Given the description of an element on the screen output the (x, y) to click on. 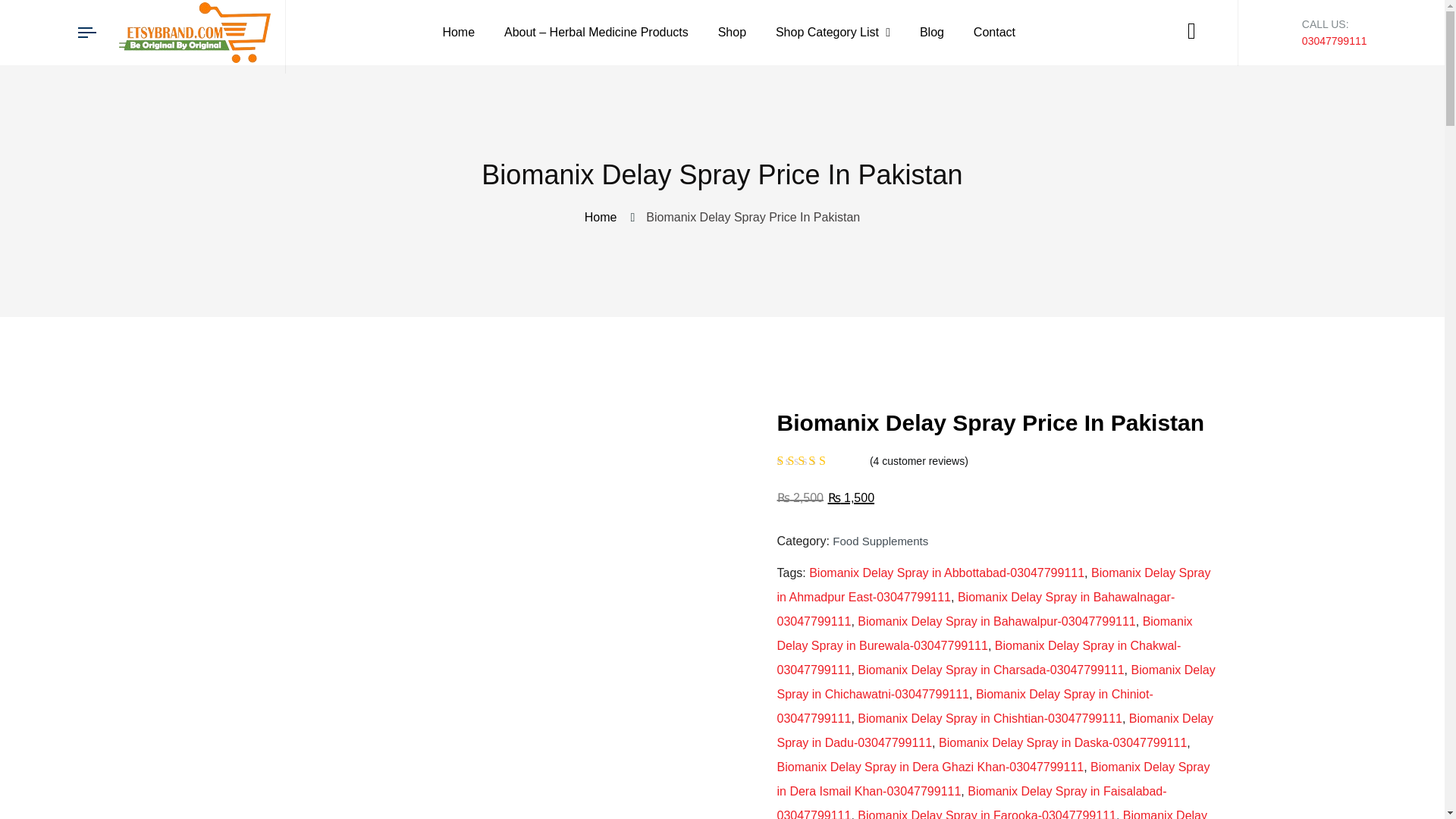
Food Supplements (880, 540)
03047799111 (1334, 40)
Biomanix Delay Spray in Chakwal-03047799111 (978, 657)
Biomanix Delay Spray in Abbottabad-03047799111 (946, 572)
Biomanix Delay Spray in Bahawalpur-03047799111 (996, 621)
Biomanix Delay Spray in Bahawalnagar-03047799111 (975, 609)
Biomanix Delay Spray in Charsada-03047799111 (990, 669)
Biomanix Delay Spray in Burewala-03047799111 (984, 633)
Home   (604, 216)
Biomanix Delay Spray in Ahmadpur East-03047799111 (992, 584)
